Given the description of an element on the screen output the (x, y) to click on. 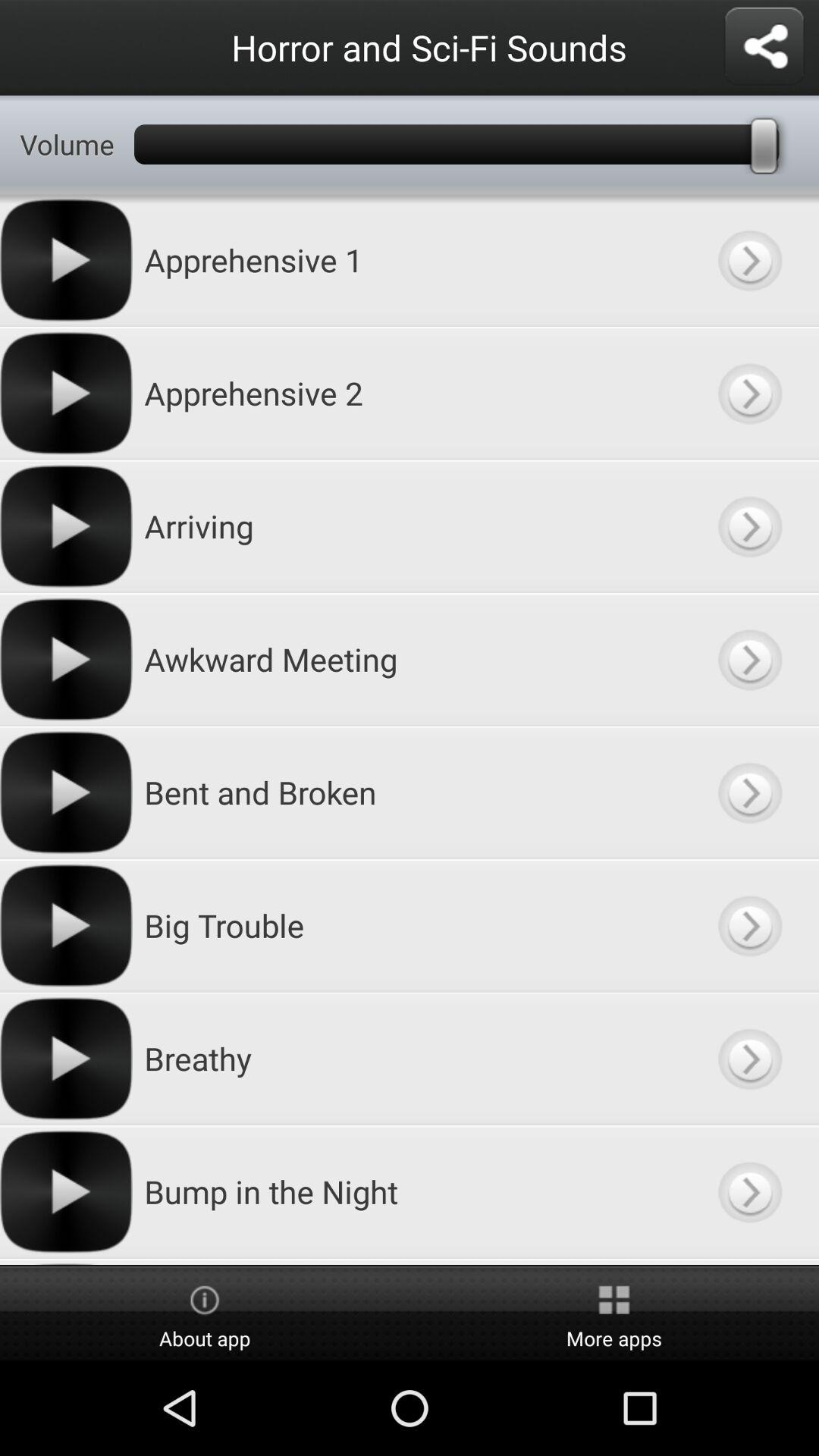
select option (749, 1191)
